Given the description of an element on the screen output the (x, y) to click on. 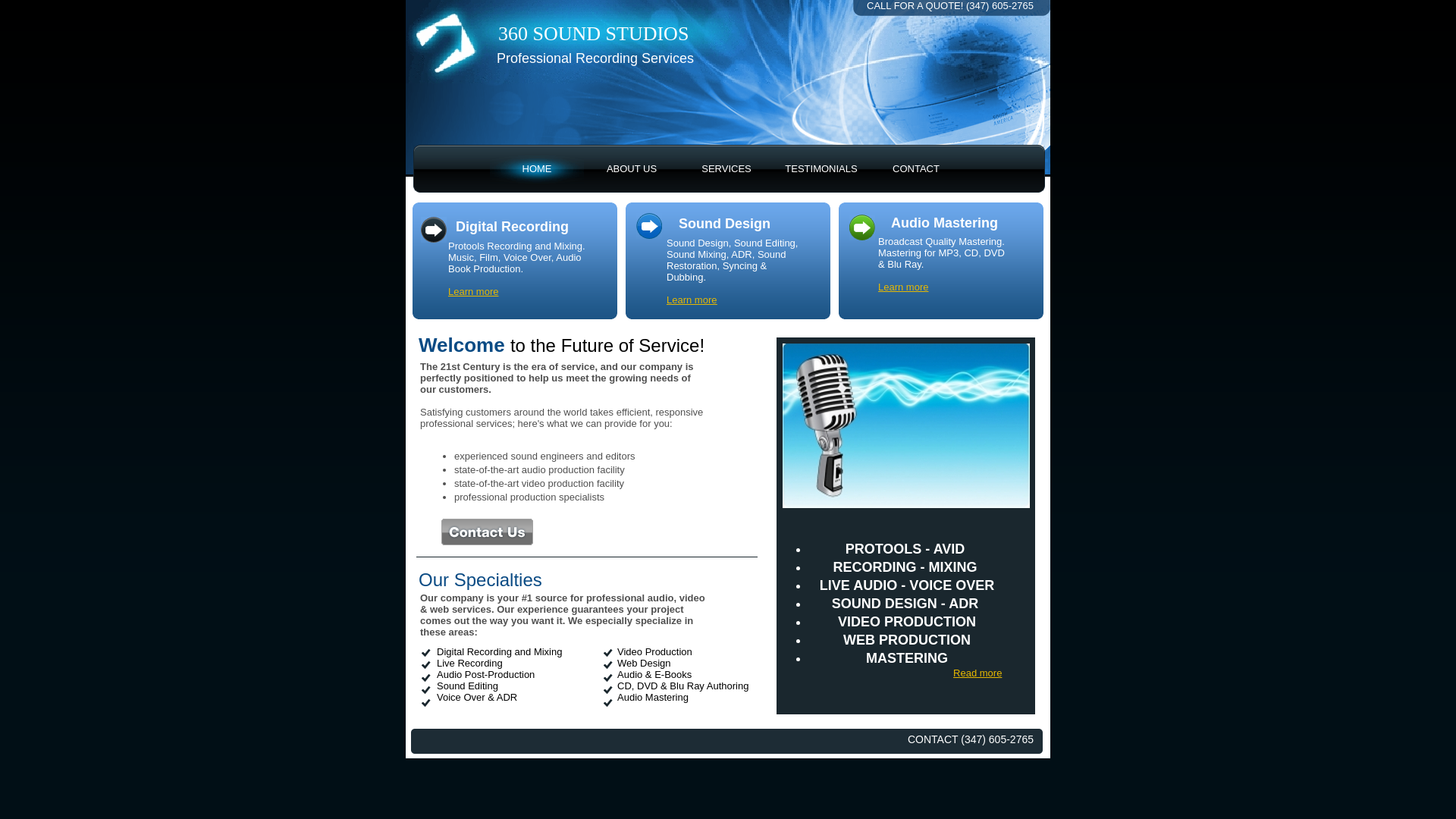
HOME Element type: text (536, 168)
TESTIMONIALS Element type: text (821, 168)
Learn more Element type: text (691, 299)
ABOUT US Element type: text (631, 168)
Learn more Element type: text (903, 286)
CONTACT Element type: text (916, 168)
SERVICES Element type: text (726, 168)
Read more Element type: text (977, 672)
Learn more Element type: text (473, 291)
